Given the description of an element on the screen output the (x, y) to click on. 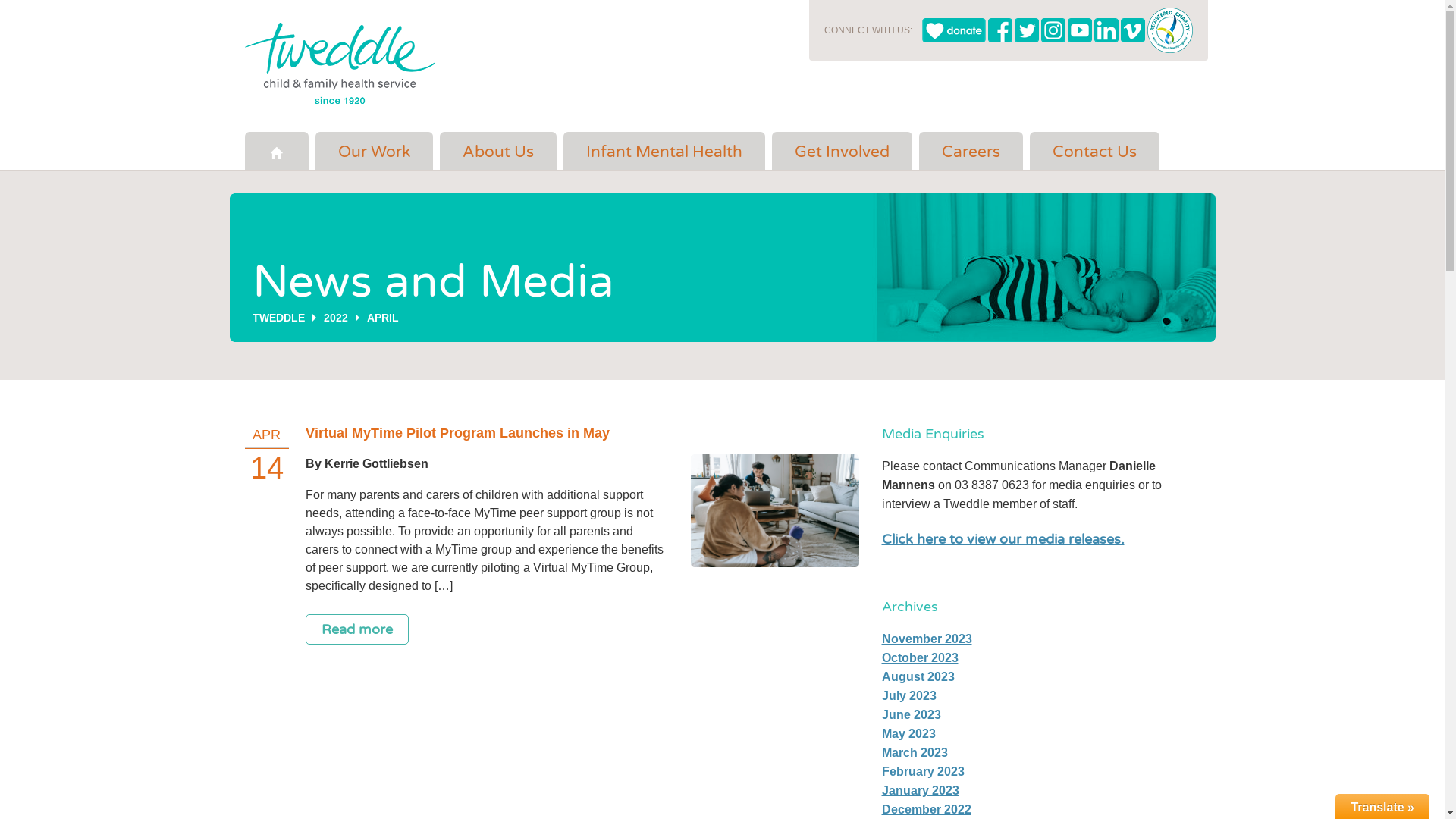
Infant Mental Health Element type: text (663, 150)
2022 Element type: text (335, 317)
January 2023 Element type: text (919, 790)
About Us Element type: text (497, 150)
October 2023 Element type: text (919, 657)
February 2023 Element type: text (922, 771)
November 2023 Element type: text (926, 638)
Click here to view our media releases. Element type: text (1002, 538)
May 2023 Element type: text (908, 733)
Contact Us Element type: text (1094, 150)
March 2023 Element type: text (914, 752)
August 2023 Element type: text (917, 676)
Our Work Element type: text (374, 150)
December 2022 Element type: text (925, 809)
APRIL Element type: text (382, 317)
Careers Element type: text (970, 150)
Read more Element type: text (355, 629)
Get Involved Element type: text (841, 150)
June 2023 Element type: text (910, 714)
July 2023 Element type: text (908, 695)
TWEDDLE Element type: text (277, 317)
